Given the description of an element on the screen output the (x, y) to click on. 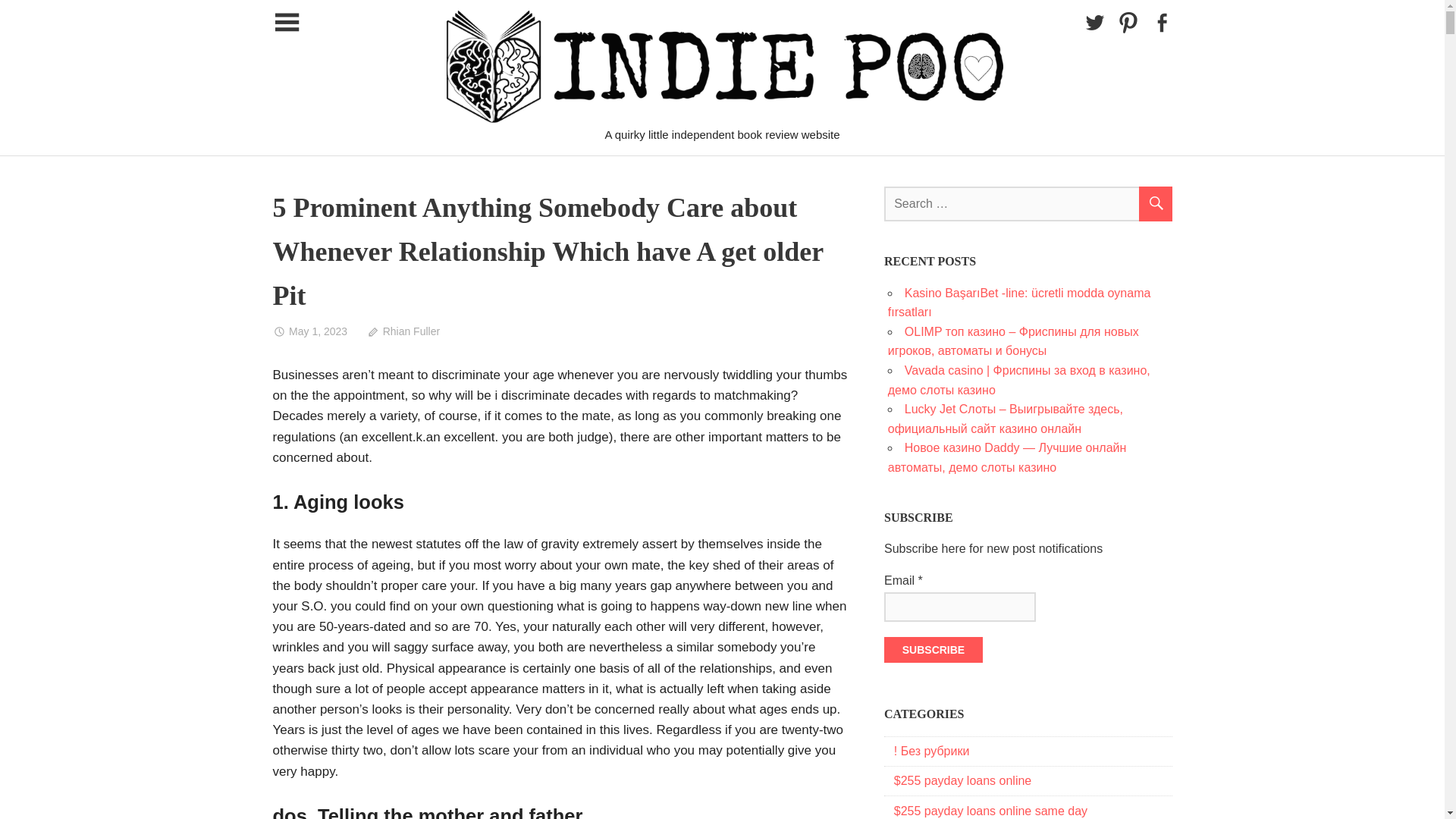
May 1, 2023 (310, 331)
Search for: (1027, 203)
Subscribe (932, 649)
A quirky little independent book review website (938, 141)
12:17 am (310, 331)
Rhian Fuller (402, 331)
View all posts by Rhian Fuller (402, 331)
